Given the description of an element on the screen output the (x, y) to click on. 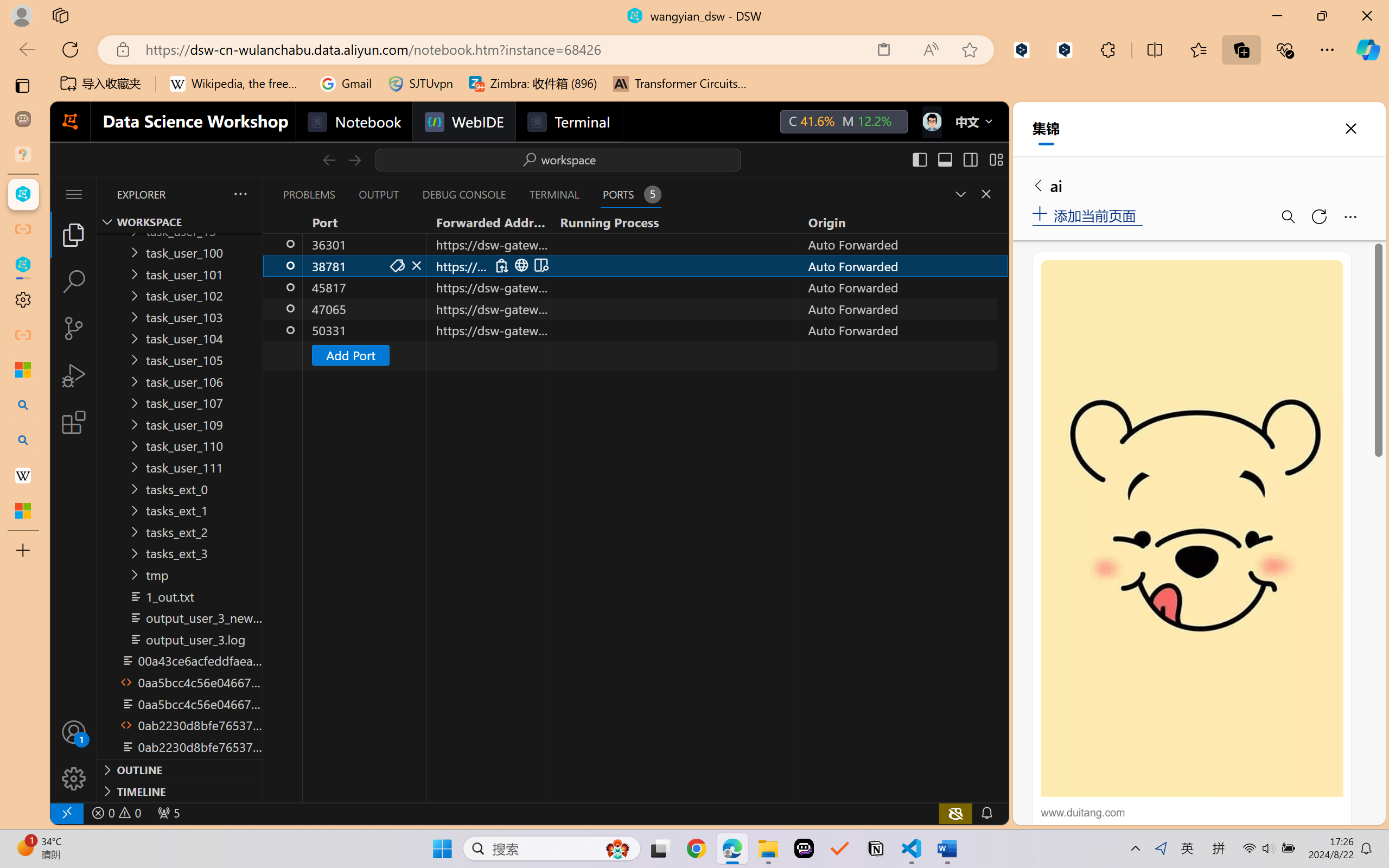
Add Port (635, 355)
copilot-notconnected, Copilot error (click for details) (955, 812)
Source Control (Ctrl+Shift+G) (73, 328)
Set Port Label (F2) (396, 265)
Problems (Ctrl+Shift+M) (308, 194)
Gmail (345, 83)
wangyian_webcrawler - DSW (22, 264)
Go Back (Alt+LeftArrow) (329, 159)
Toggle Primary Side Bar (Ctrl+B) (919, 159)
remote (66, 812)
Customize Layout... (995, 159)
Notebook (353, 121)
